Given the description of an element on the screen output the (x, y) to click on. 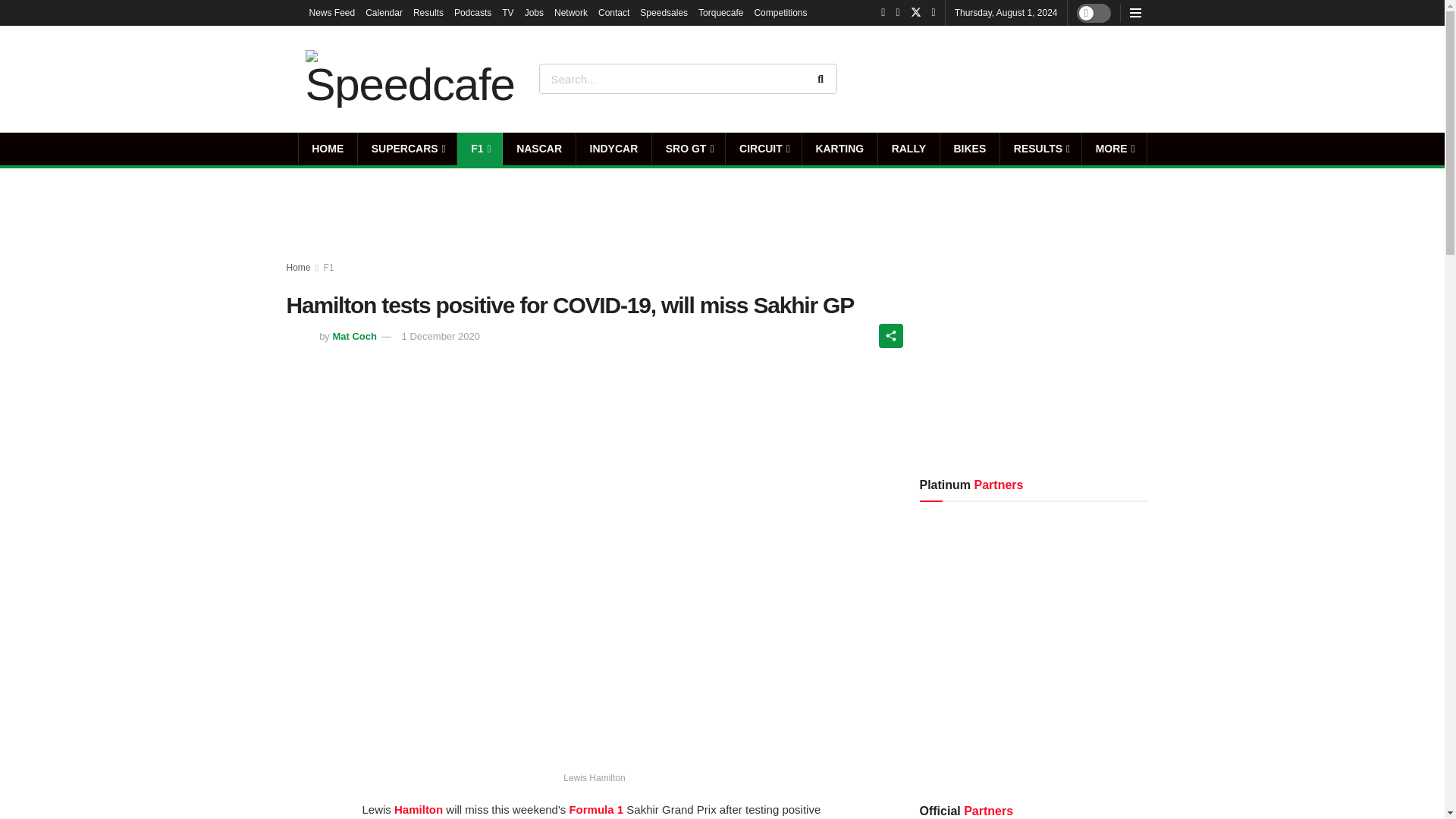
Competitions (780, 12)
Results (428, 12)
Speedsales (663, 12)
HOME (327, 148)
Torquecafe (720, 12)
Podcasts (473, 12)
SUPERCARS (407, 148)
Contact (613, 12)
Network (571, 12)
Calendar (384, 12)
Truck Assist (1097, 78)
News Feed (331, 12)
F1 (479, 148)
